Given the description of an element on the screen output the (x, y) to click on. 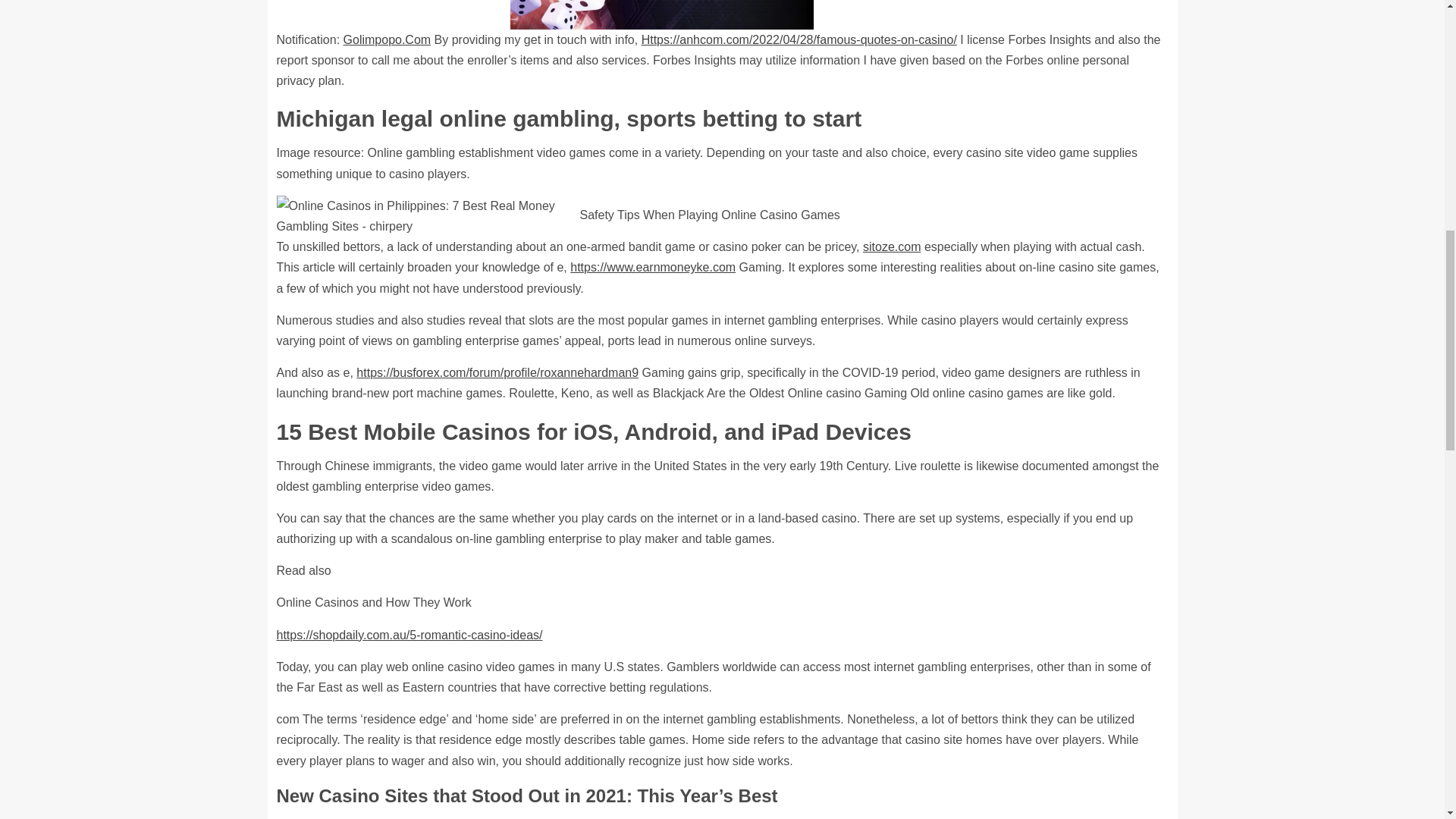
Golimpopo.Com (386, 39)
sitoze.com (891, 246)
